Given the description of an element on the screen output the (x, y) to click on. 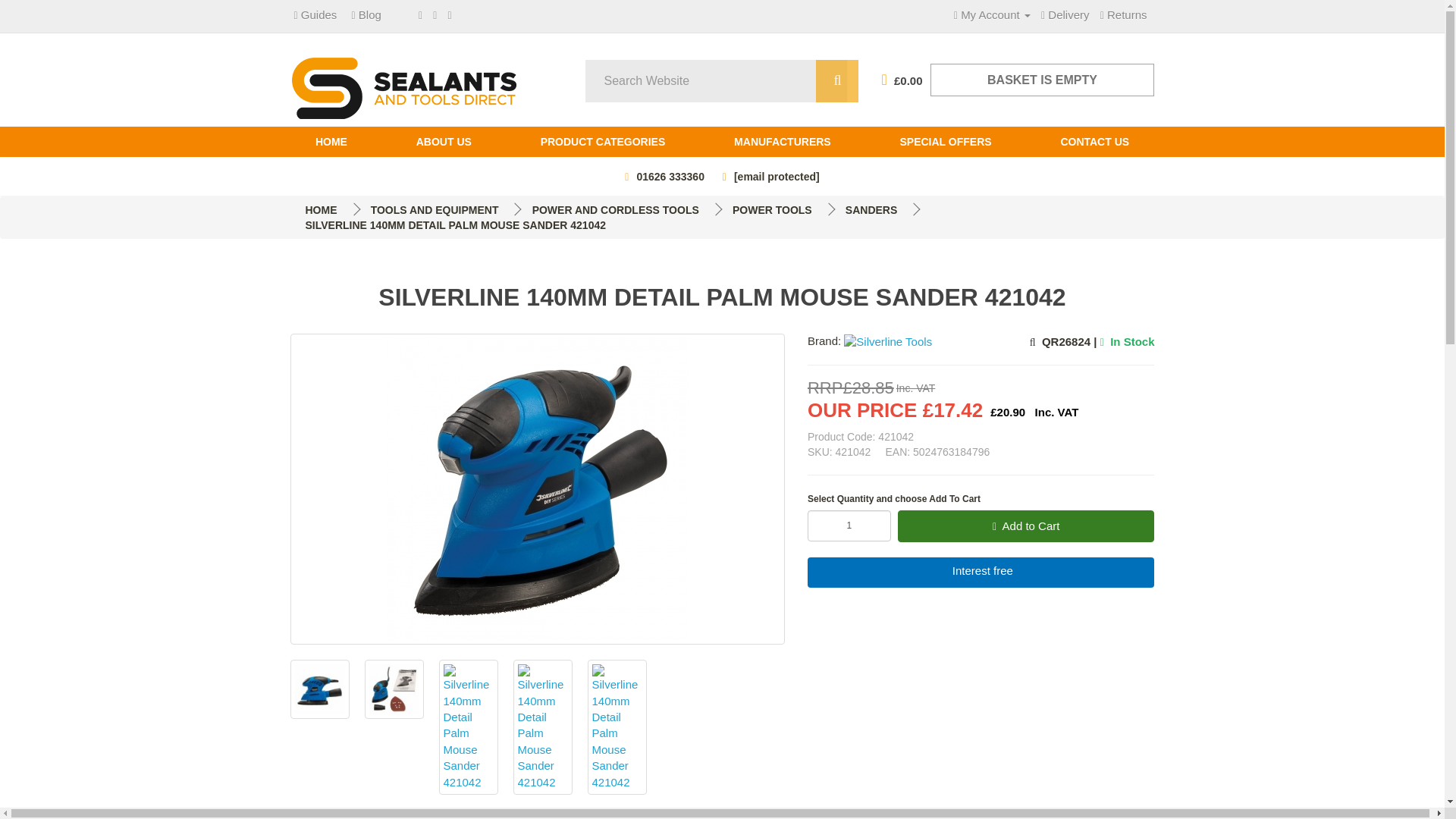
My Account (991, 14)
Returns (1123, 14)
HOME (331, 141)
Delivery (1065, 14)
Search Website (837, 80)
SILVERLINE 140MM DETAIL PALM MOUSE SANDER 421042 (454, 224)
TOOLS AND EQUIPMENT (435, 209)
Silverline 140mm Detail Palm Mouse Sander 421042 (393, 689)
ABOUT US (443, 141)
SPECIAL OFFERS (945, 141)
